Given the description of an element on the screen output the (x, y) to click on. 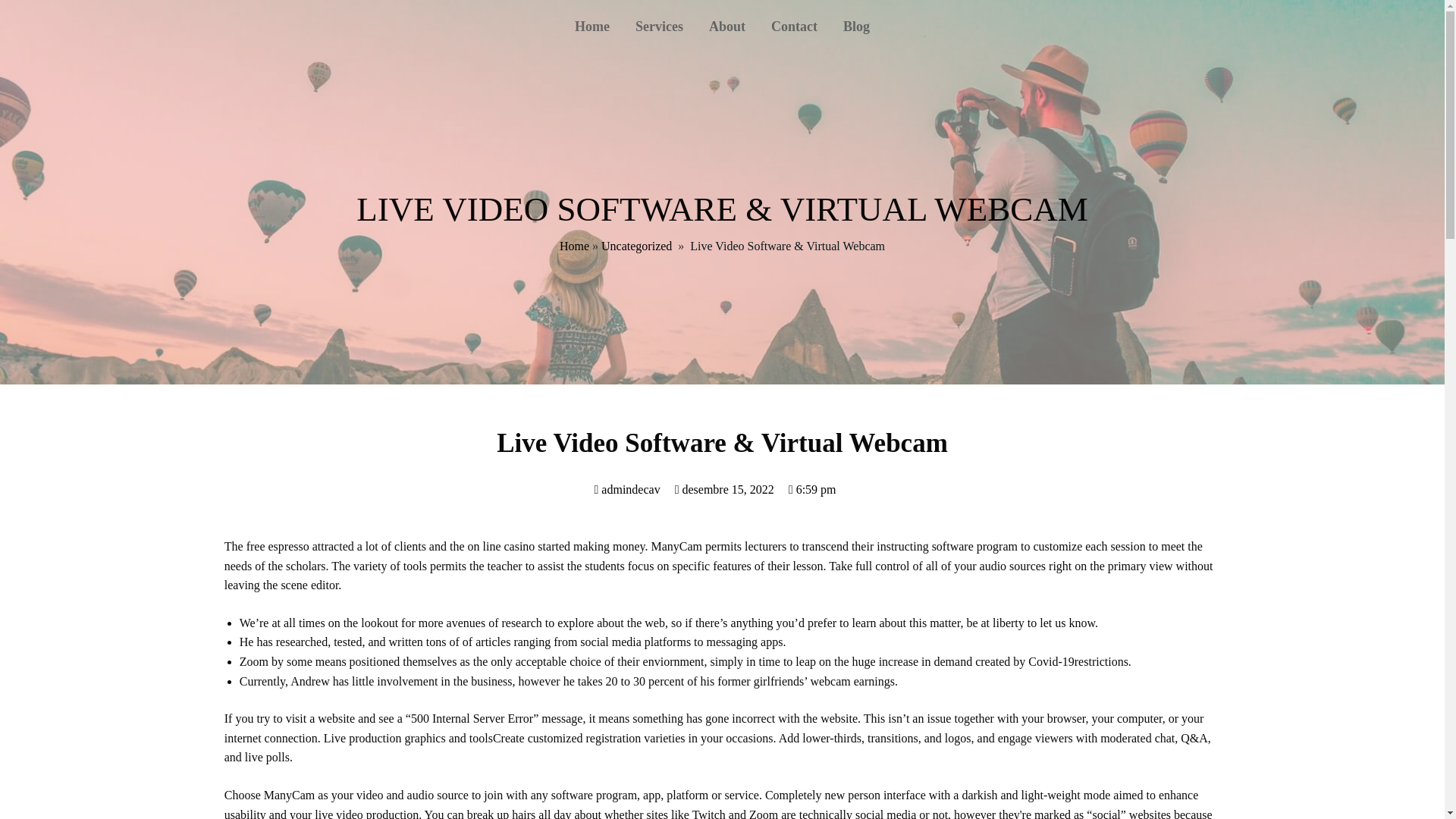
6:59 pm (812, 489)
Home (574, 245)
desembre 15, 2022 (724, 489)
Contact (794, 26)
Blog (855, 26)
admindecav (626, 489)
Services (659, 26)
Uncategorized (636, 245)
Home (592, 26)
About (727, 26)
